Given the description of an element on the screen output the (x, y) to click on. 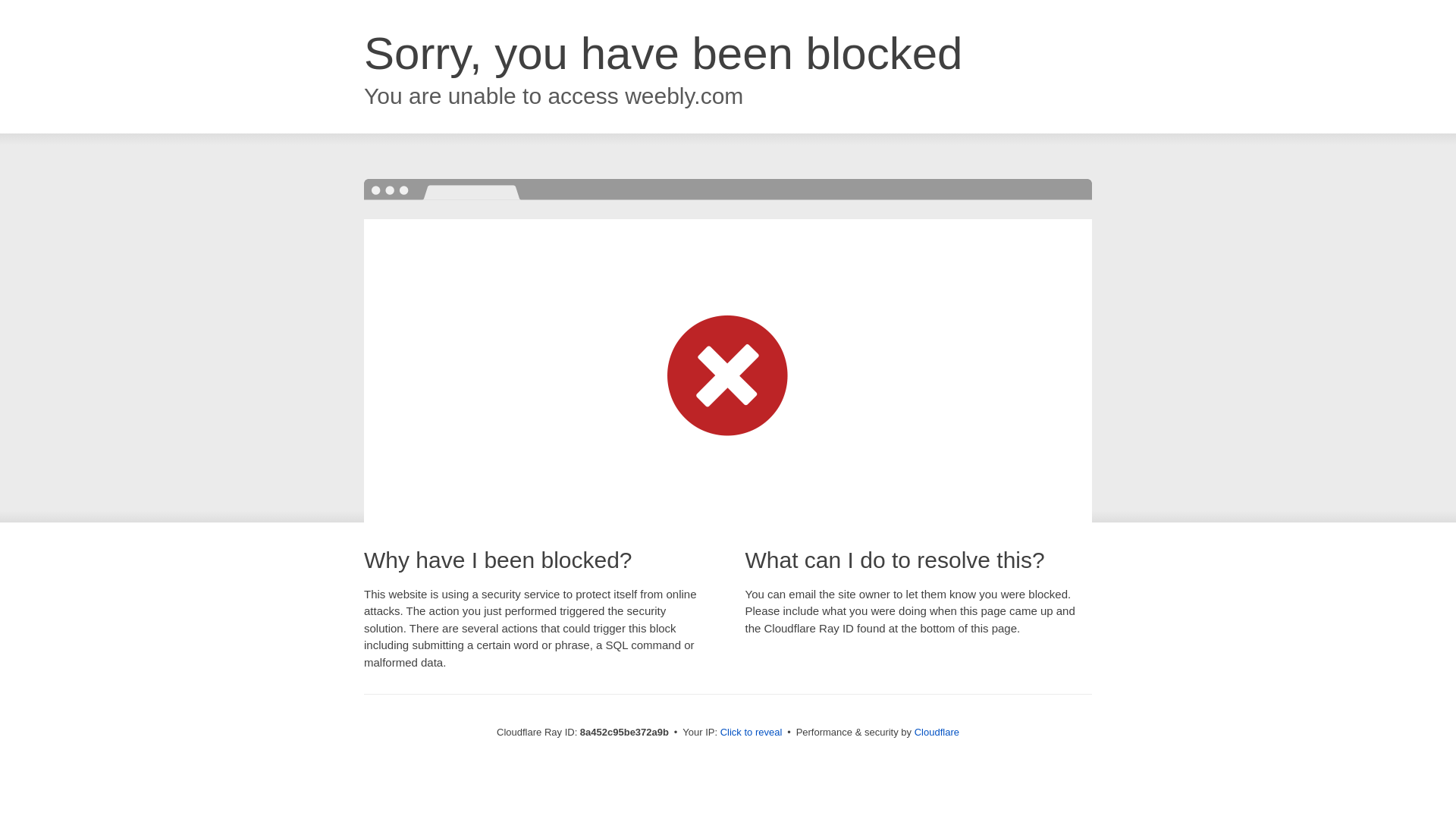
Cloudflare (936, 731)
Click to reveal (751, 732)
